Given the description of an element on the screen output the (x, y) to click on. 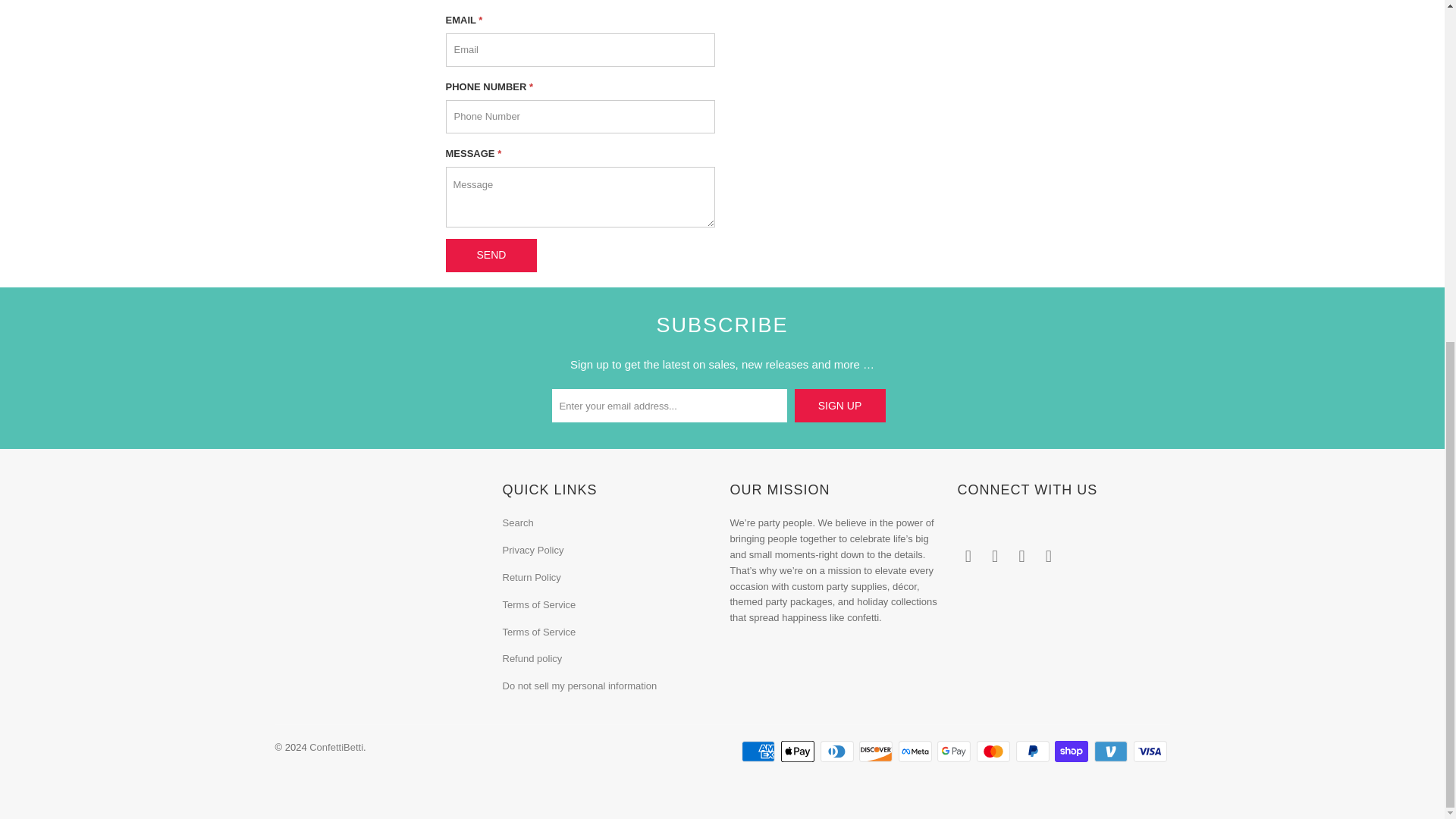
Diners Club (839, 751)
Apple Pay (798, 751)
American Express (759, 751)
Sign Up (839, 405)
Visa (1150, 751)
Meta Pay (916, 751)
Shop Pay (1072, 751)
Send (491, 255)
Google Pay (955, 751)
Venmo (1112, 751)
